Given the description of an element on the screen output the (x, y) to click on. 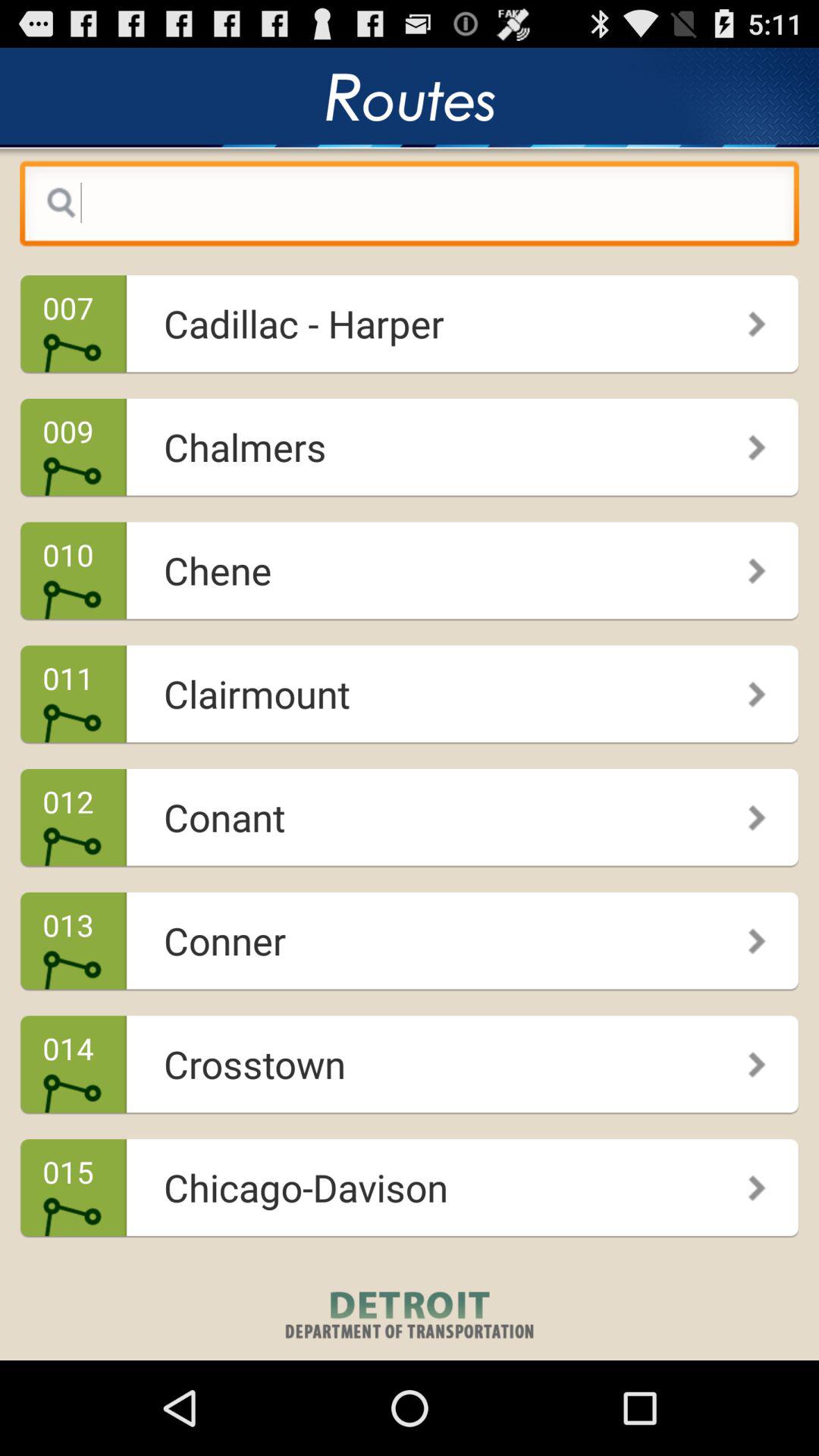
go back (409, 207)
